Given the description of an element on the screen output the (x, y) to click on. 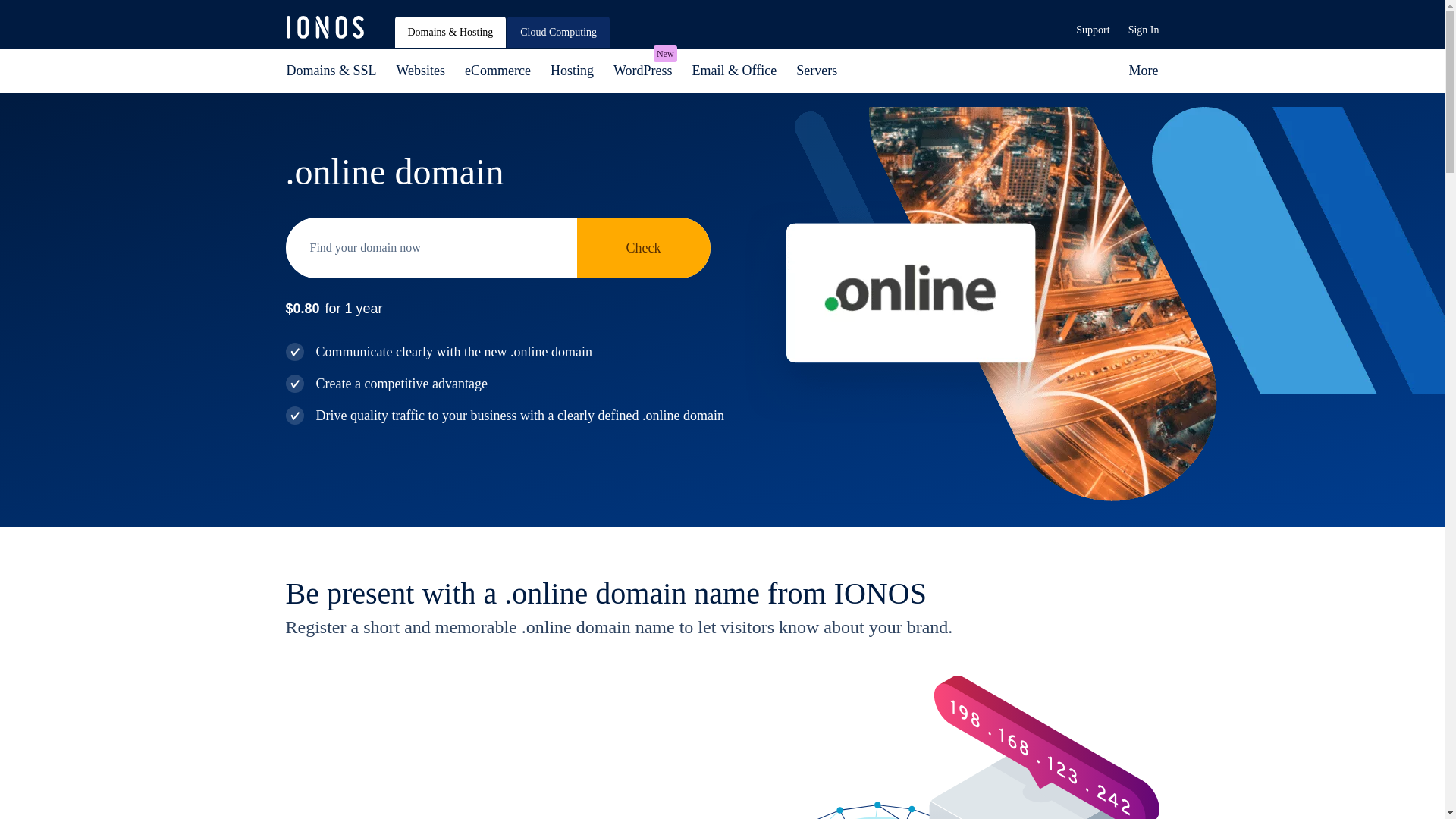
Support (1092, 29)
Cloud Computing (558, 31)
Websites (421, 71)
More (1138, 71)
Hosting (572, 71)
Sign In (1143, 29)
Servers (816, 71)
eCommerce (643, 71)
Cloud Computing (497, 71)
